Given the description of an element on the screen output the (x, y) to click on. 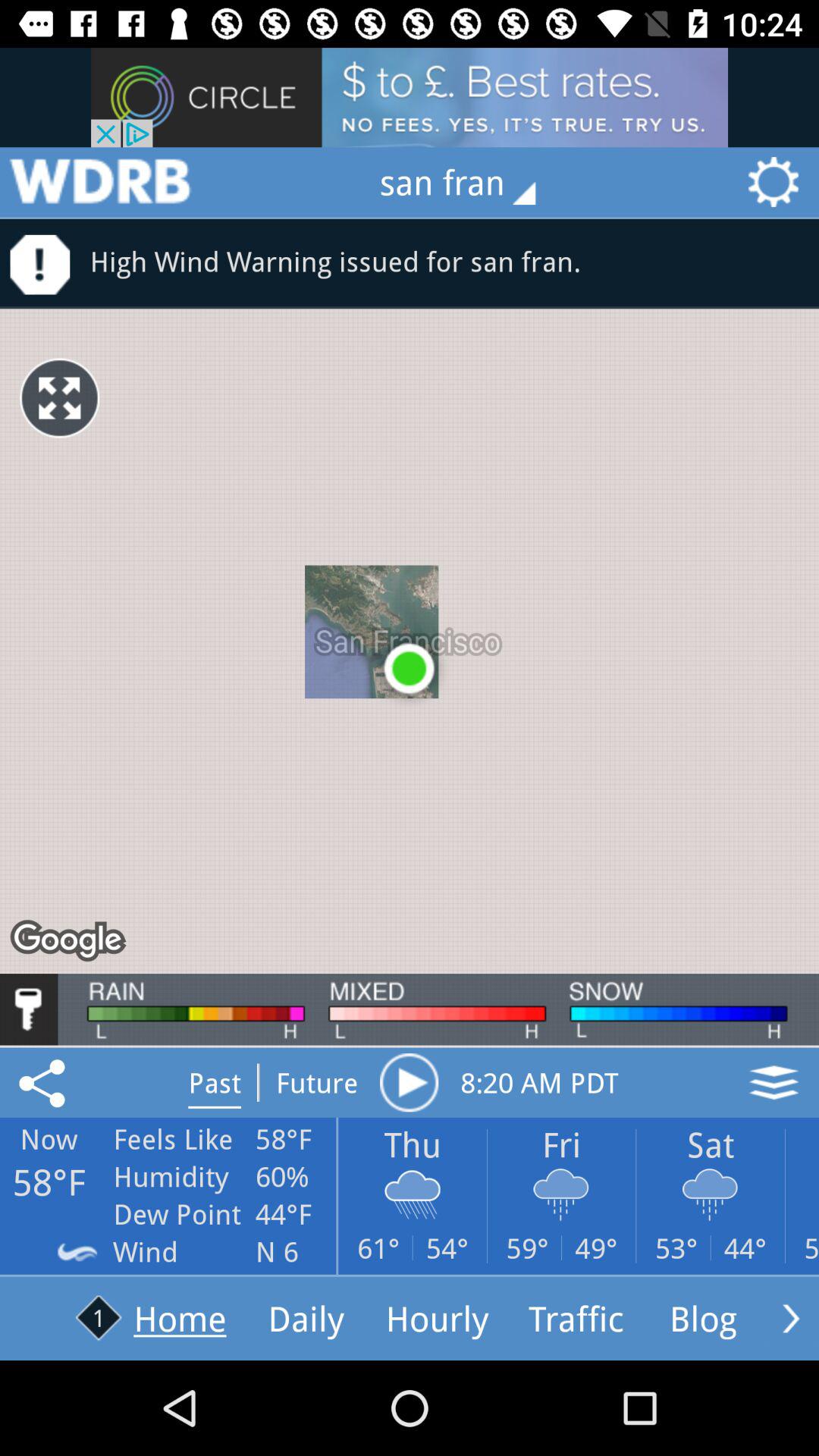
see advertisement (409, 97)
